Given the description of an element on the screen output the (x, y) to click on. 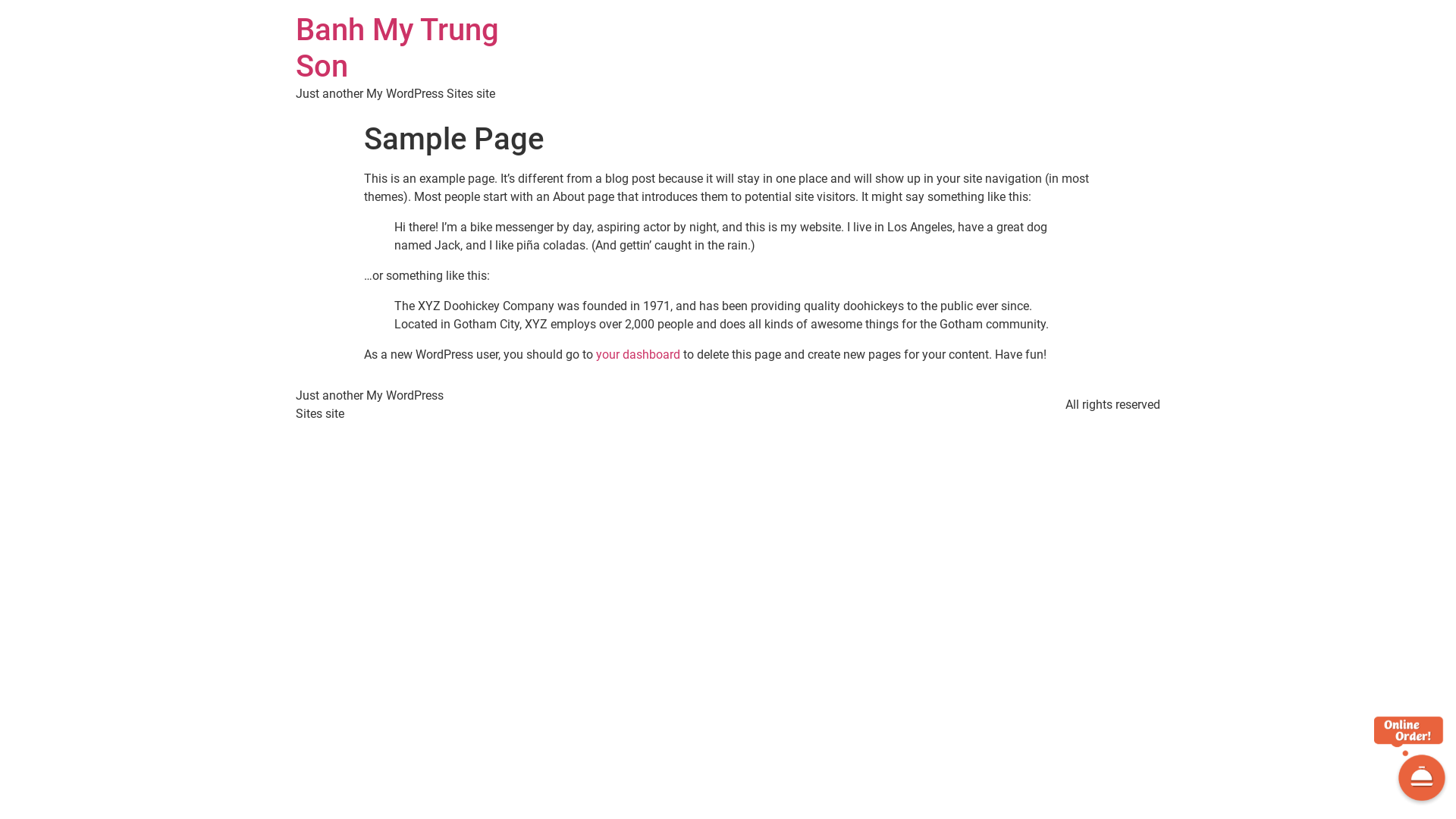
your dashboard Element type: text (638, 354)
Banh My Trung Son Element type: text (396, 48)
